Given the description of an element on the screen output the (x, y) to click on. 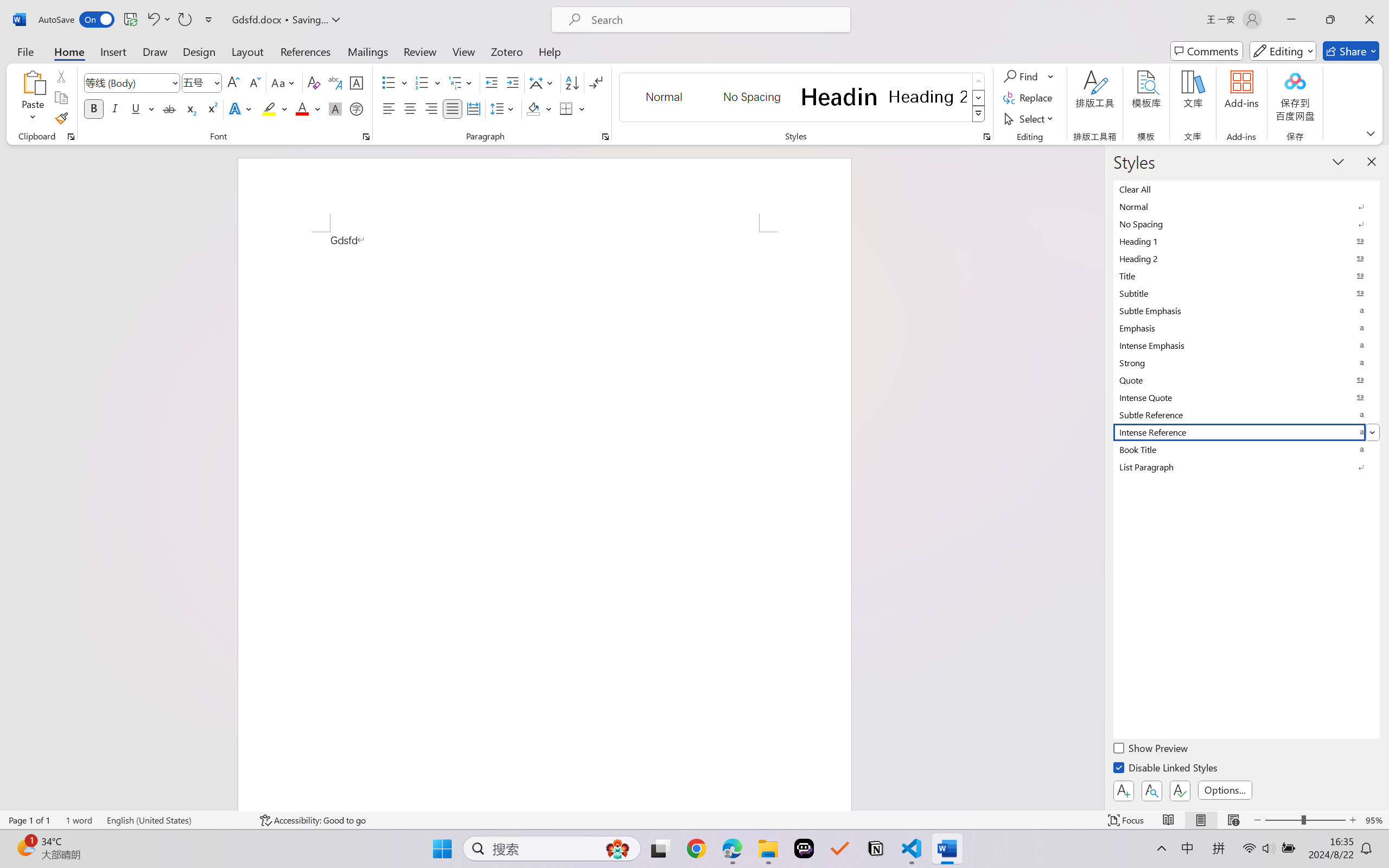
Class: NetUIScrollBar (1097, 477)
Distributed (473, 108)
Font Color Red (302, 108)
Styles... (986, 136)
Row up (978, 81)
Book Title (1246, 449)
List Paragraph (1246, 466)
Class: MsoCommandBar (694, 819)
